Given the description of an element on the screen output the (x, y) to click on. 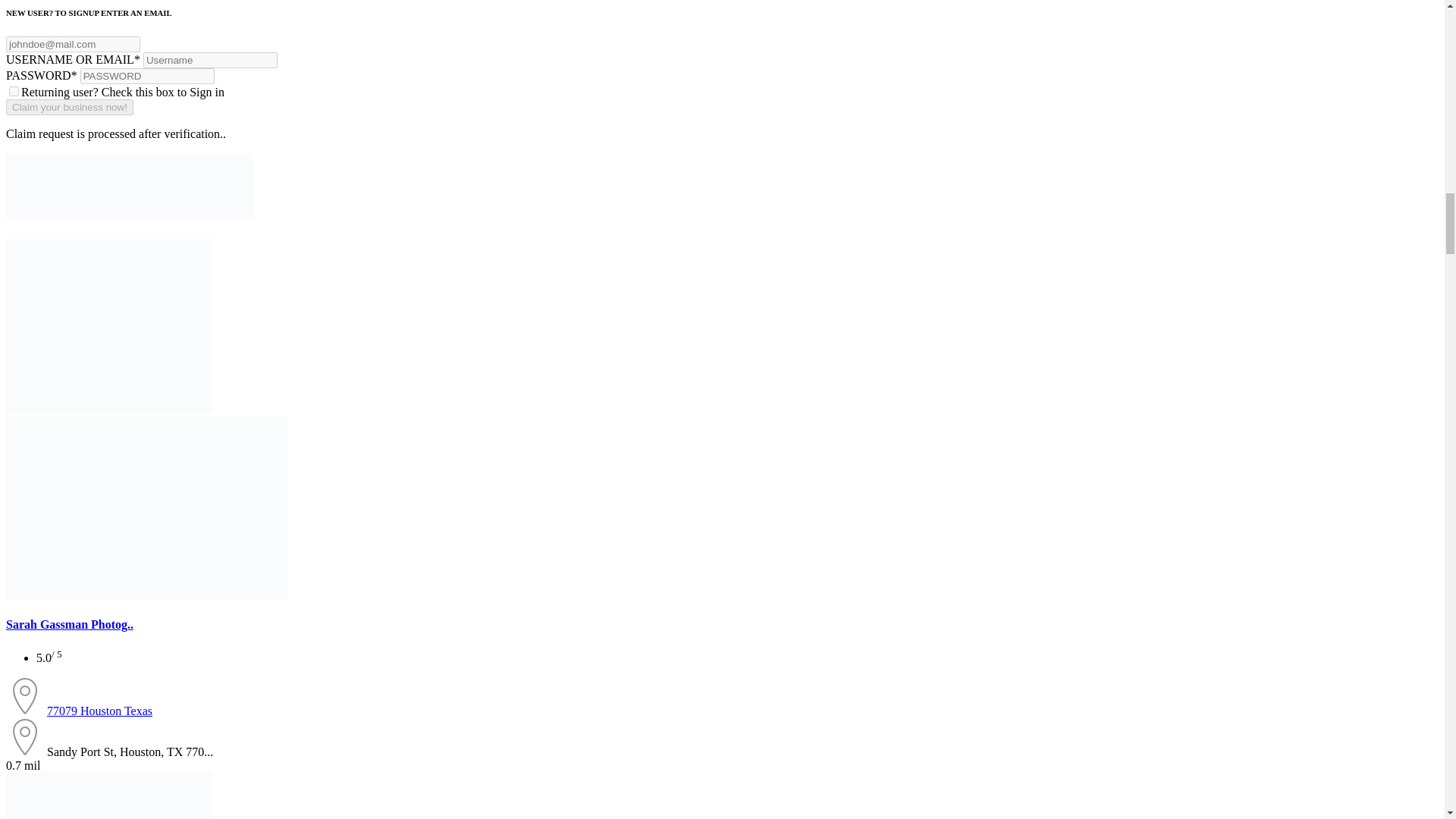
Claim your business now! (69, 107)
